Given the description of an element on the screen output the (x, y) to click on. 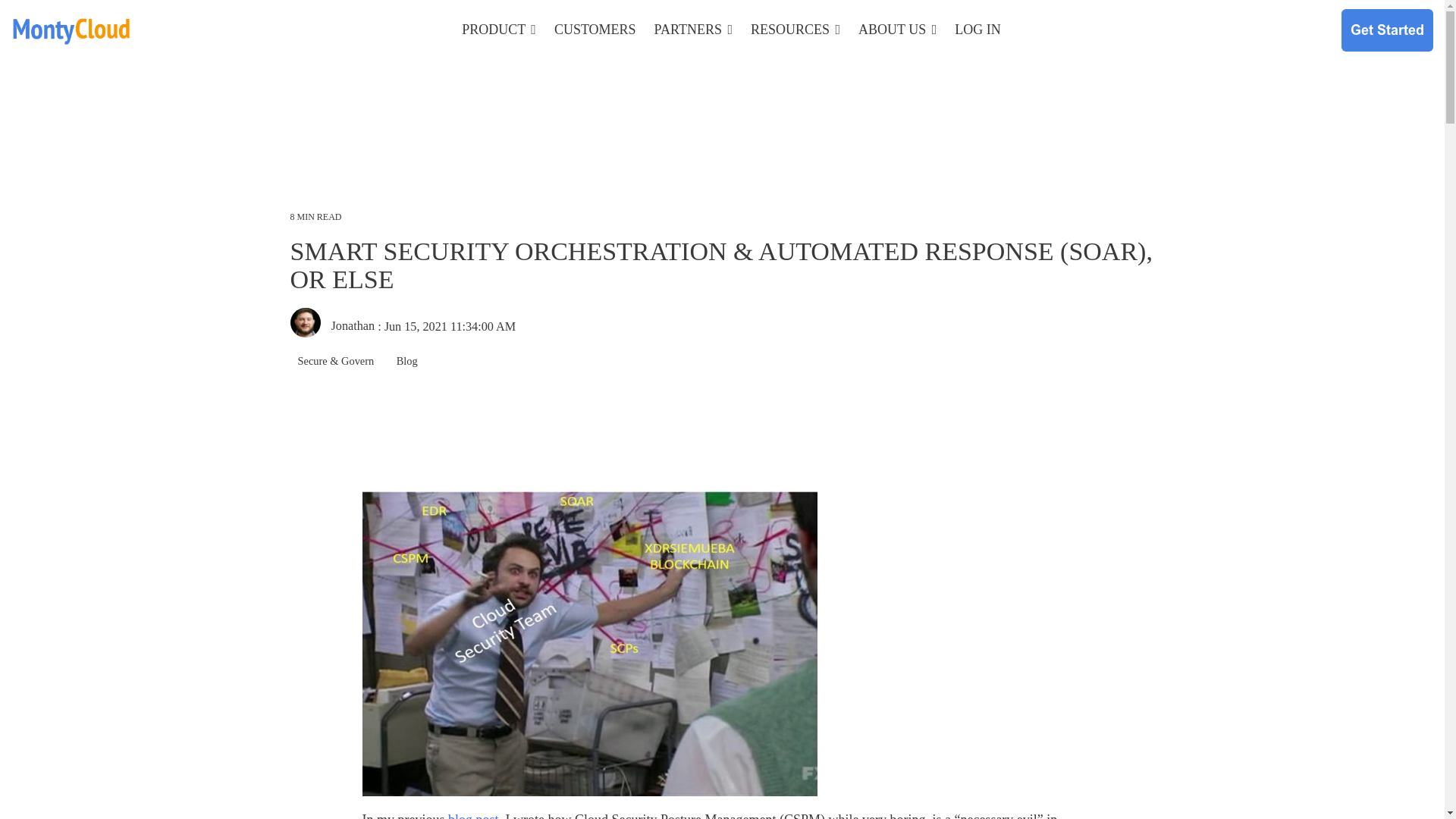
PARTNERS (692, 29)
RESOURCES (795, 29)
PRODUCT (498, 29)
LOG IN (978, 29)
CUSTOMERS (595, 29)
ABOUT US (897, 29)
